Given the description of an element on the screen output the (x, y) to click on. 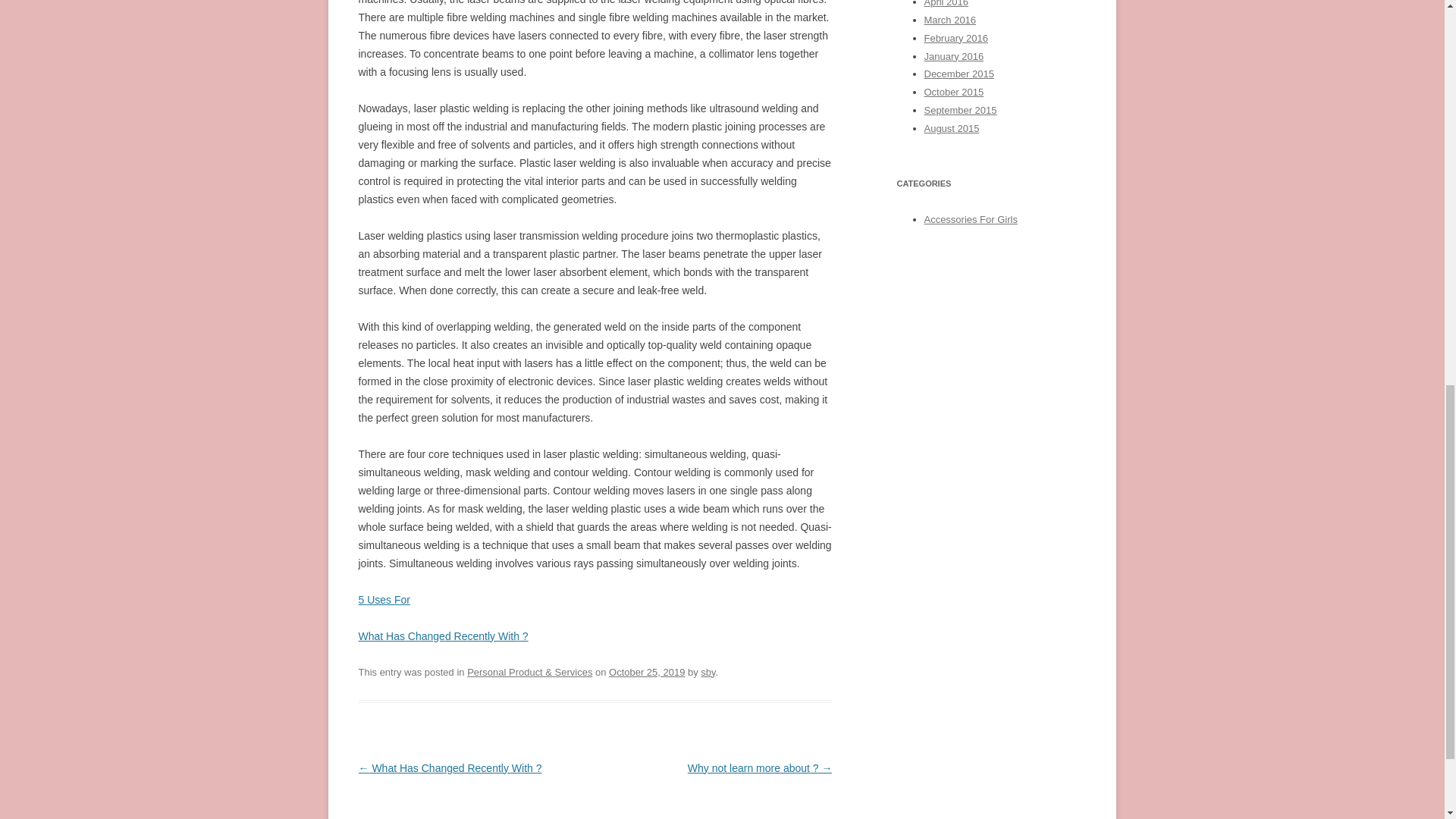
October 25, 2019 (646, 672)
View all posts by sby (707, 672)
What Has Changed Recently With ? (442, 635)
sby (707, 672)
December 2015 (957, 73)
March 2016 (949, 19)
5 Uses For (383, 599)
October 2015 (953, 91)
August 2015 (950, 128)
February 2016 (955, 38)
September 2015 (959, 110)
April 2016 (945, 3)
January 2016 (953, 55)
Accessories For Girls (969, 219)
8:53 pm (646, 672)
